Given the description of an element on the screen output the (x, y) to click on. 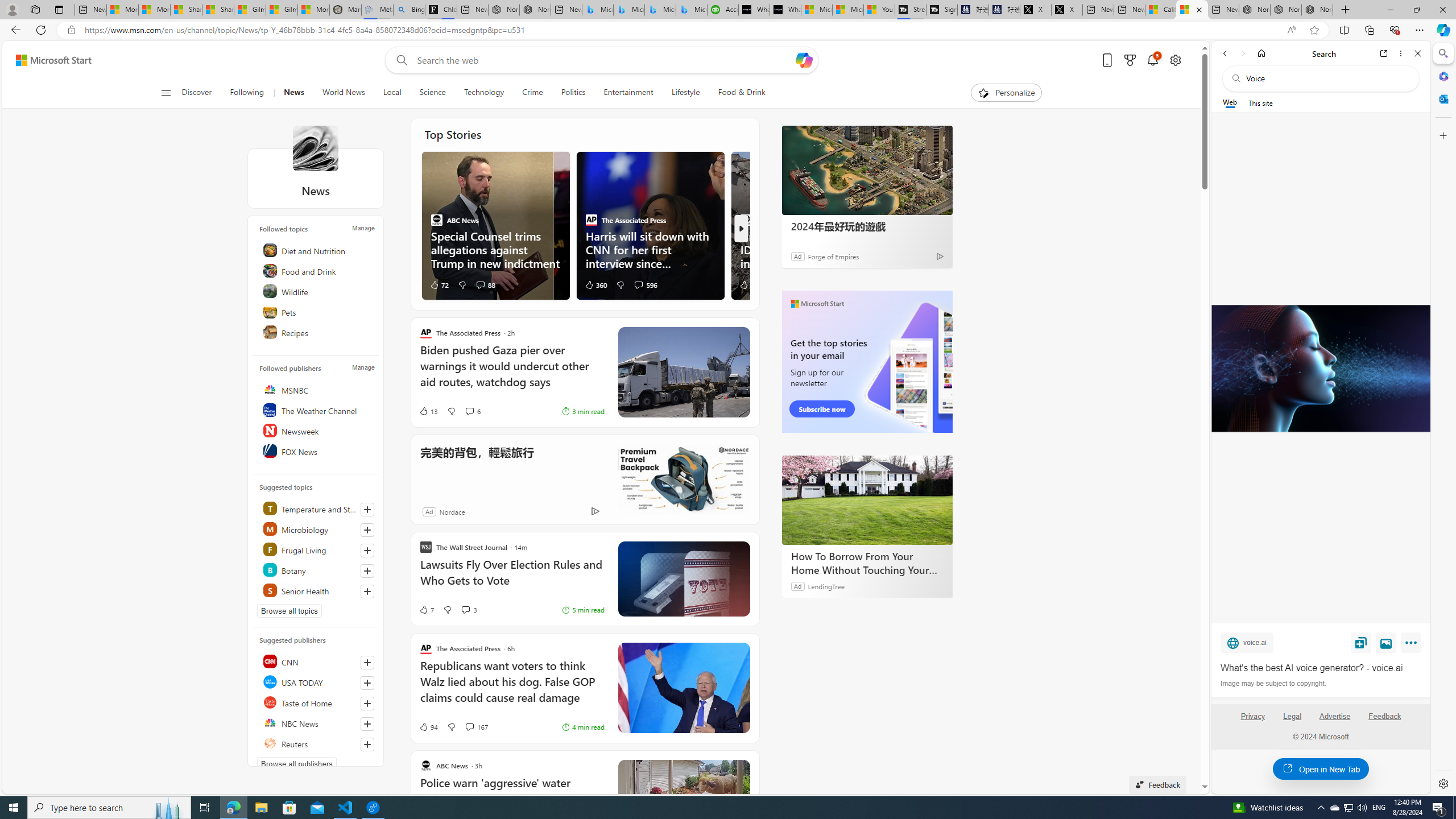
Microsoft Bing Travel - Stays in Bangkok, Bangkok, Thailand (628, 9)
Science (432, 92)
570 Like (749, 284)
Politics (572, 92)
Manatee Mortality Statistics | FWC (345, 9)
Pets (317, 311)
Technology (483, 92)
World News (343, 92)
What's the best AI voice generator? - voice.ai (785, 9)
X (1066, 9)
